Given the description of an element on the screen output the (x, y) to click on. 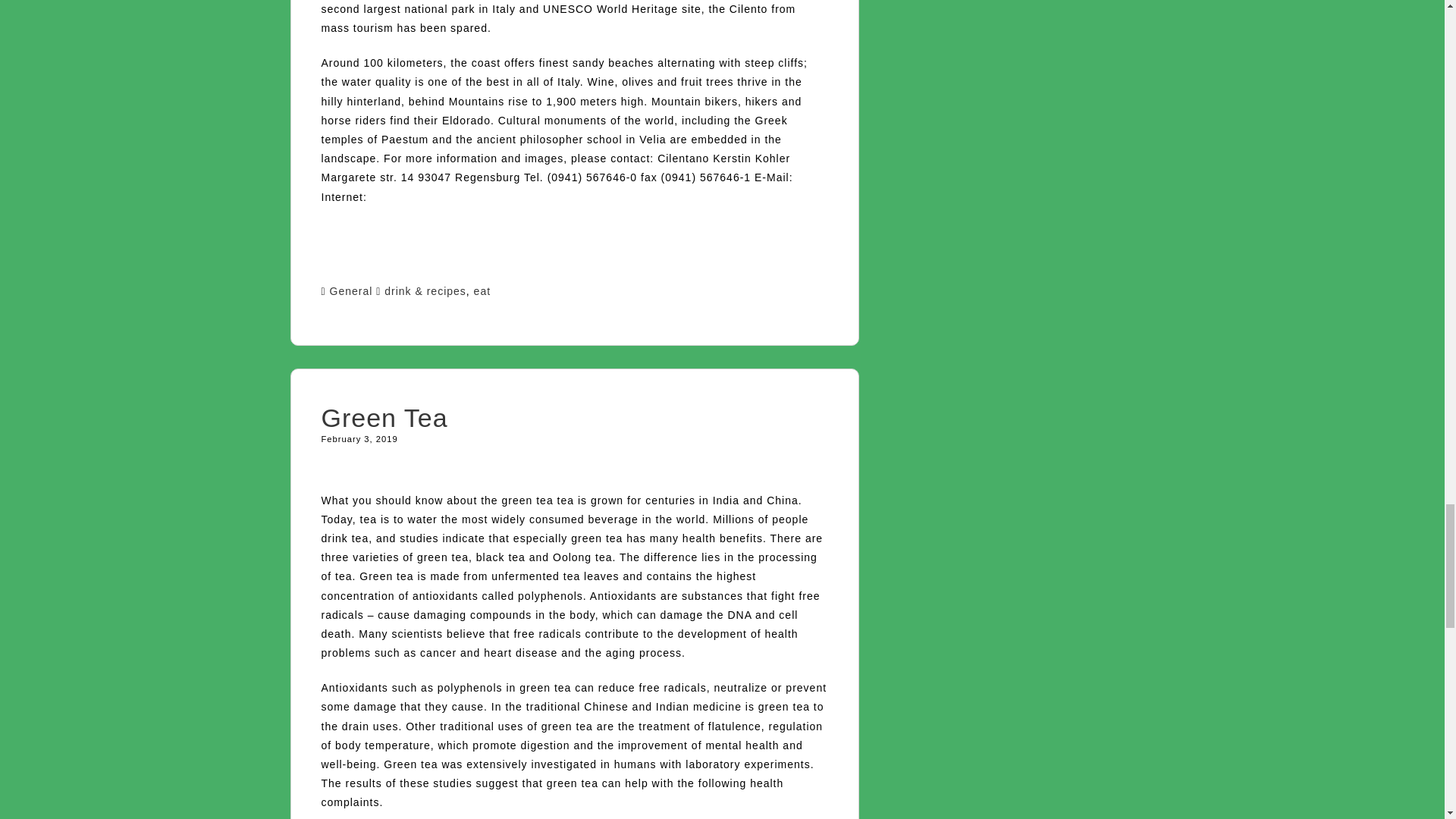
Green Tea (384, 417)
General (351, 291)
eat (482, 291)
